Given the description of an element on the screen output the (x, y) to click on. 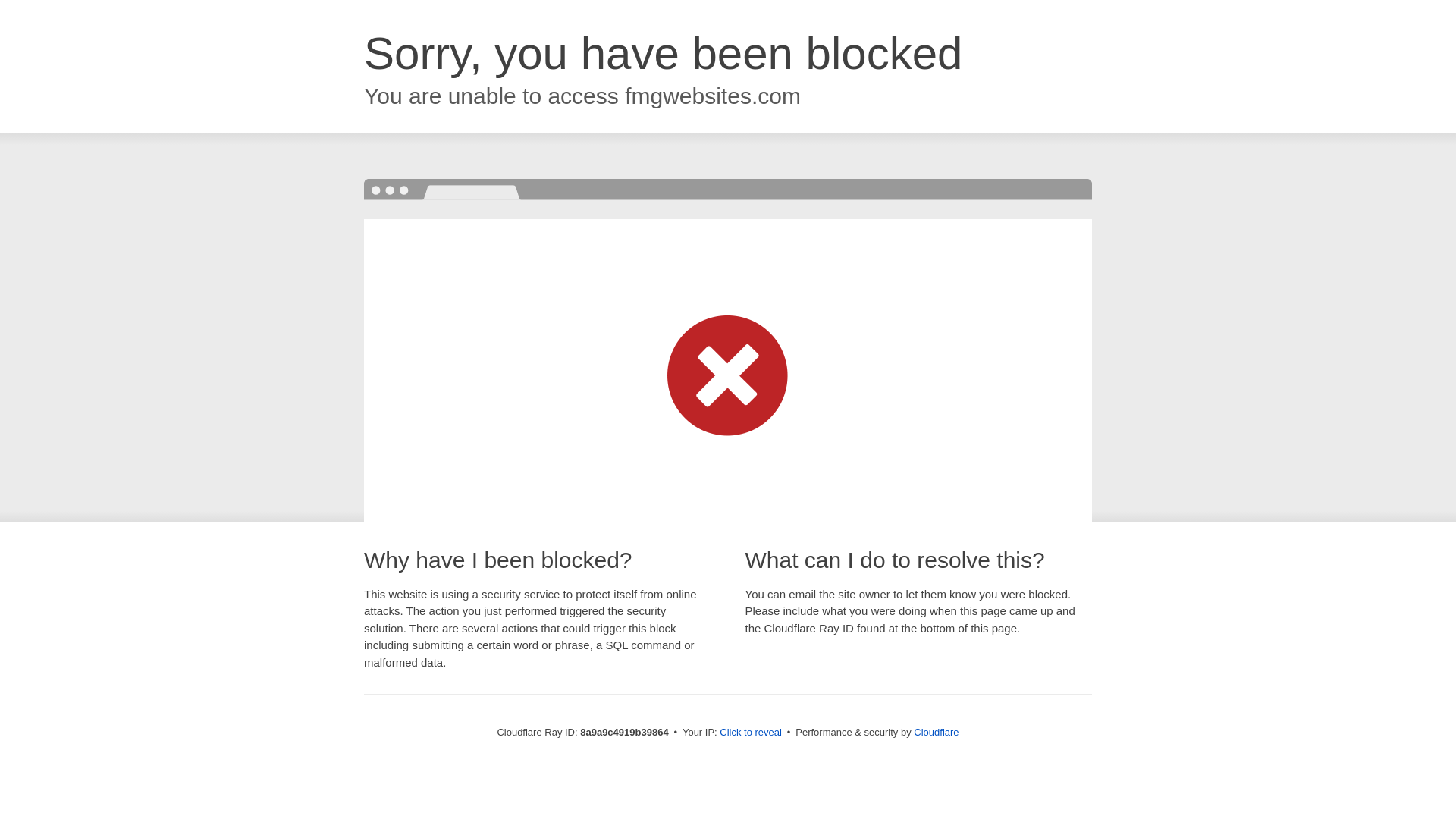
Click to reveal (750, 732)
Cloudflare (936, 731)
